Given the description of an element on the screen output the (x, y) to click on. 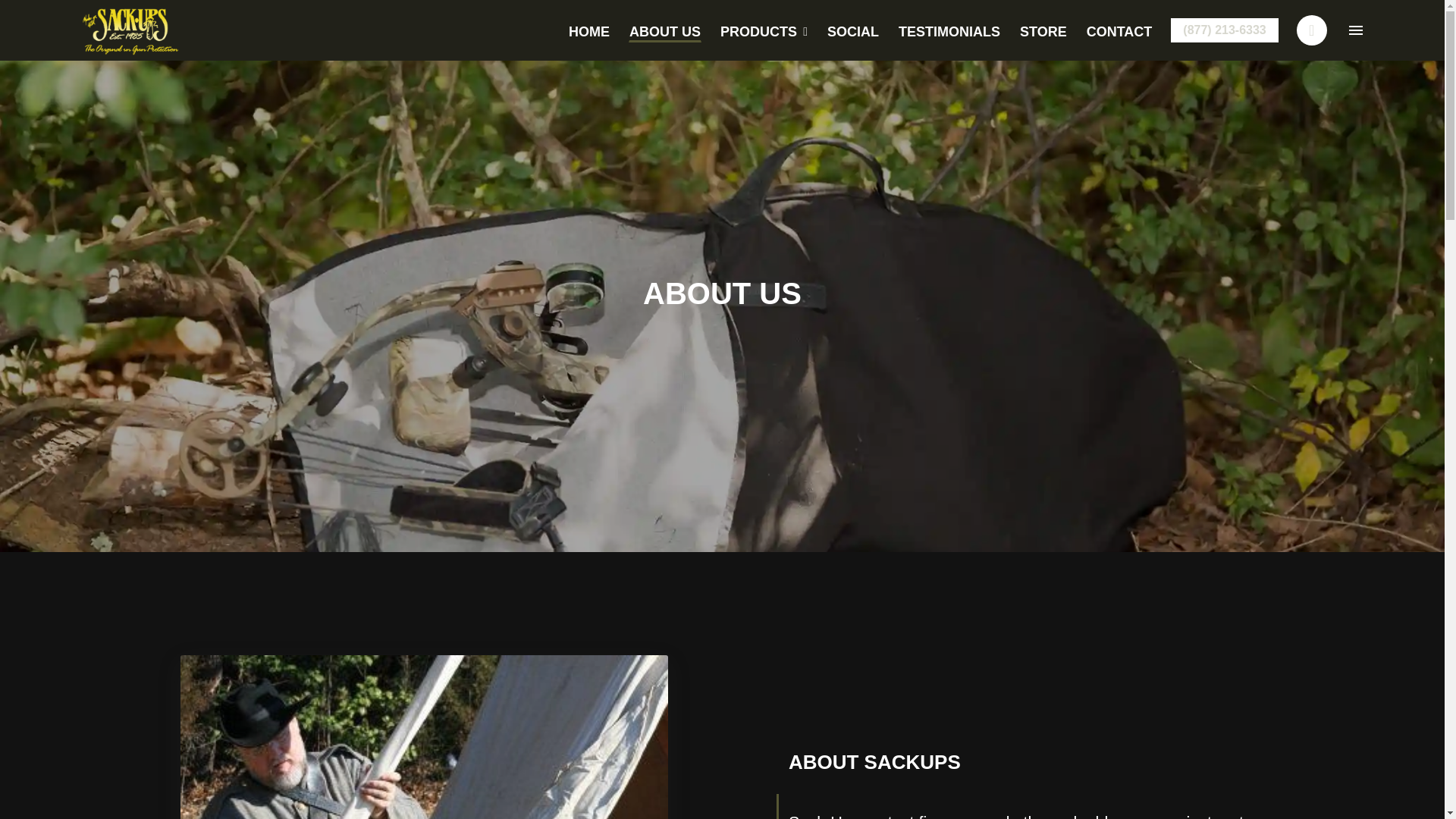
CONTACT (1119, 30)
STORE (1043, 31)
Toggle hamburger navigation menu (1356, 29)
Social media account for Facebook (1311, 30)
TESTIMONIALS (949, 30)
HOME (588, 30)
SOCIAL (853, 30)
ABOUT US (664, 30)
